Given the description of an element on the screen output the (x, y) to click on. 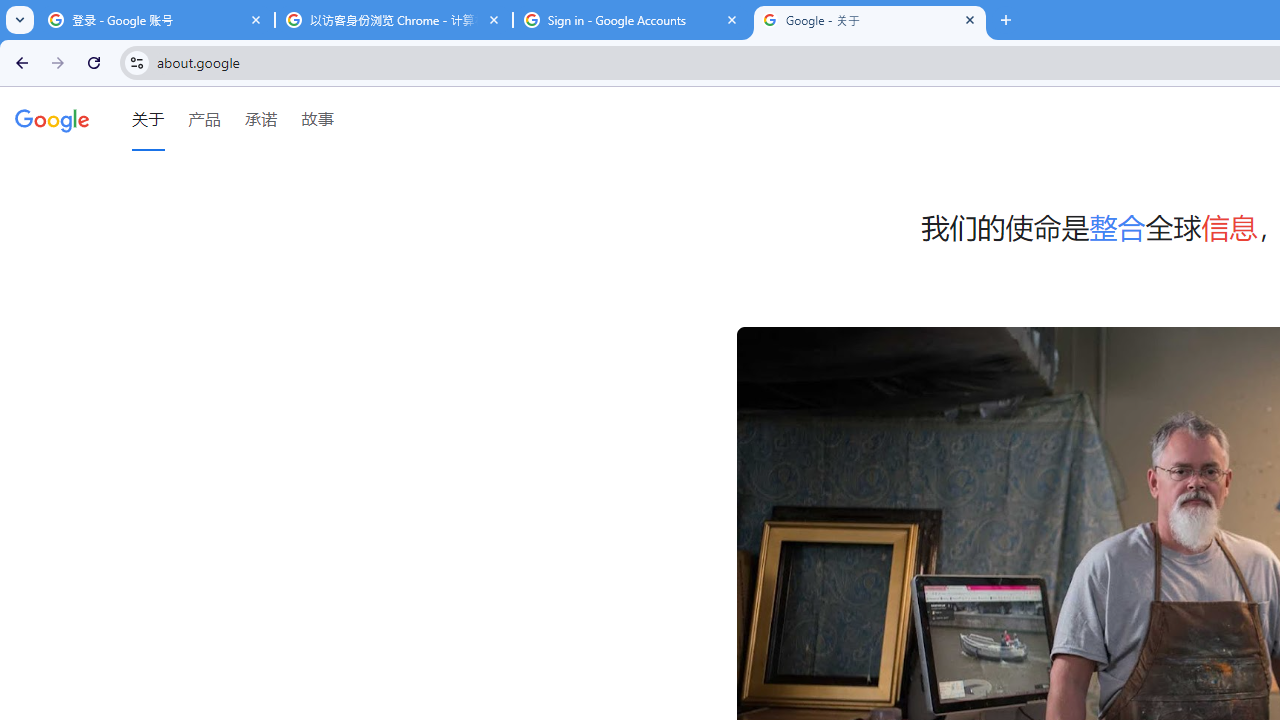
Sign in - Google Accounts (632, 20)
